Given the description of an element on the screen output the (x, y) to click on. 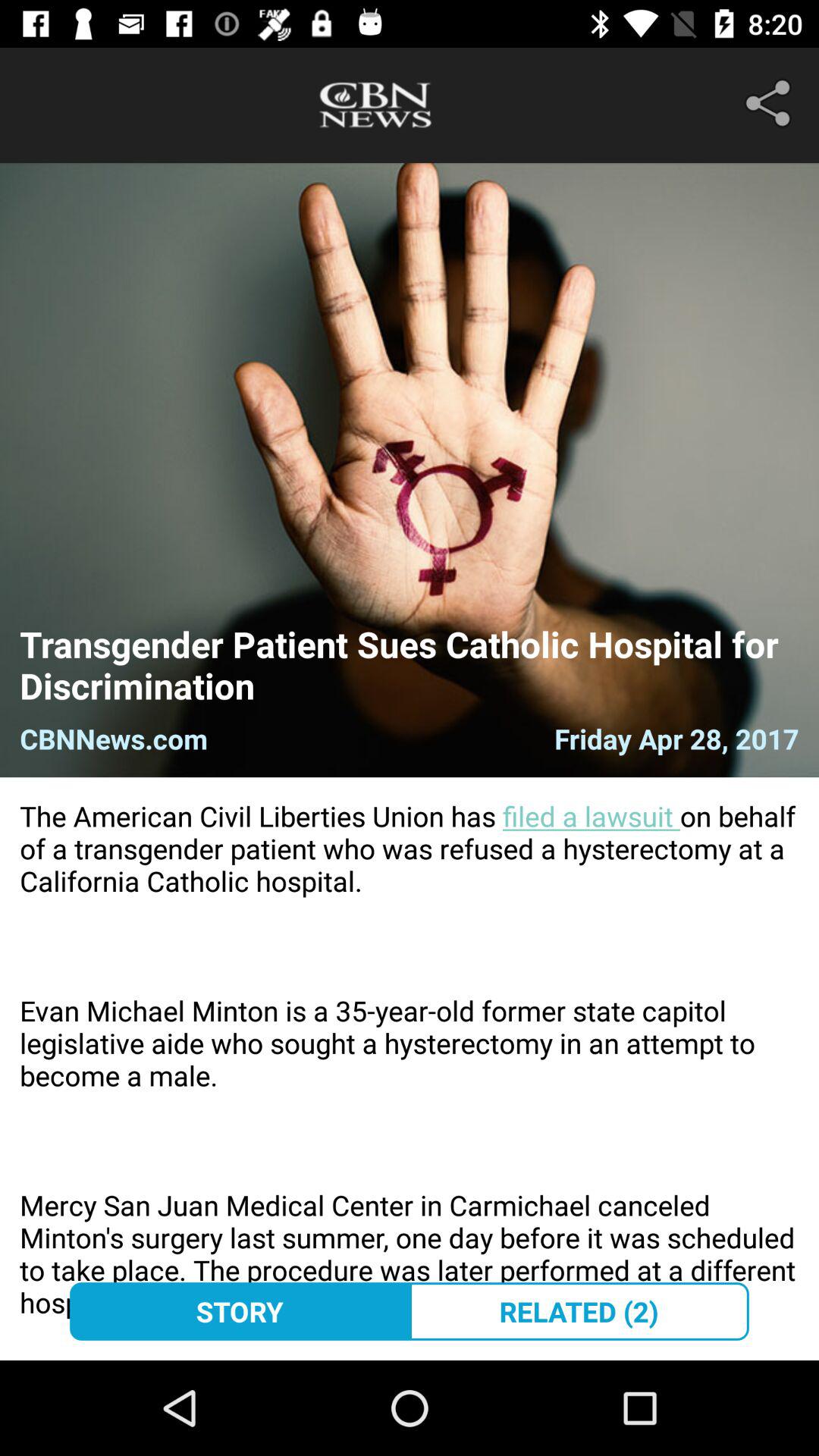
jump until story icon (239, 1311)
